Given the description of an element on the screen output the (x, y) to click on. 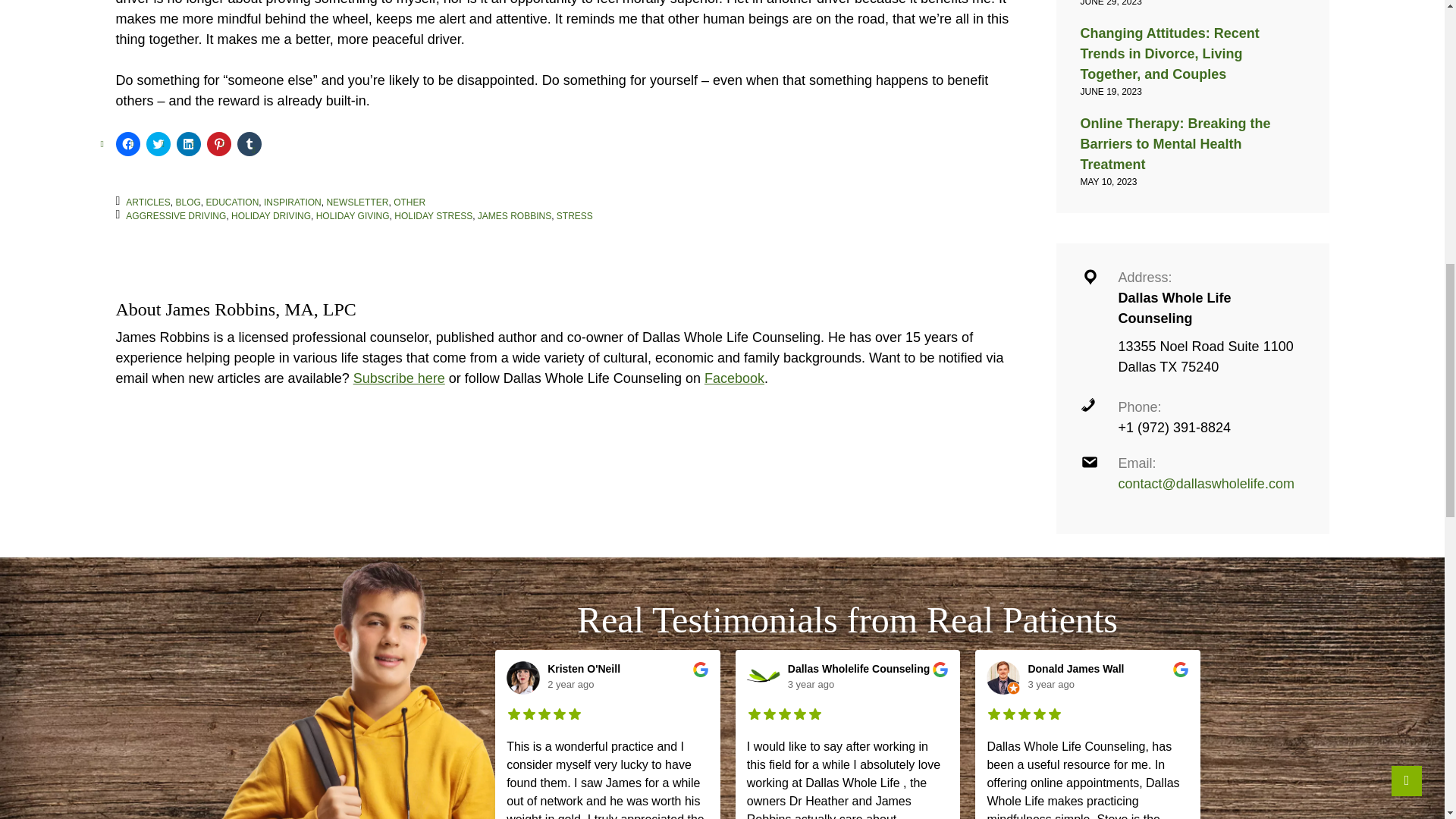
Donald James Wall (1003, 677)
Click to share on Pinterest (218, 143)
Click to share on Facebook (127, 143)
Click to share on LinkedIn (188, 143)
Kristen O'Neill (523, 677)
Dallas Wholelife Counseling (763, 677)
Click to share on Twitter (157, 143)
Click to share on Tumblr (247, 143)
